Given the description of an element on the screen output the (x, y) to click on. 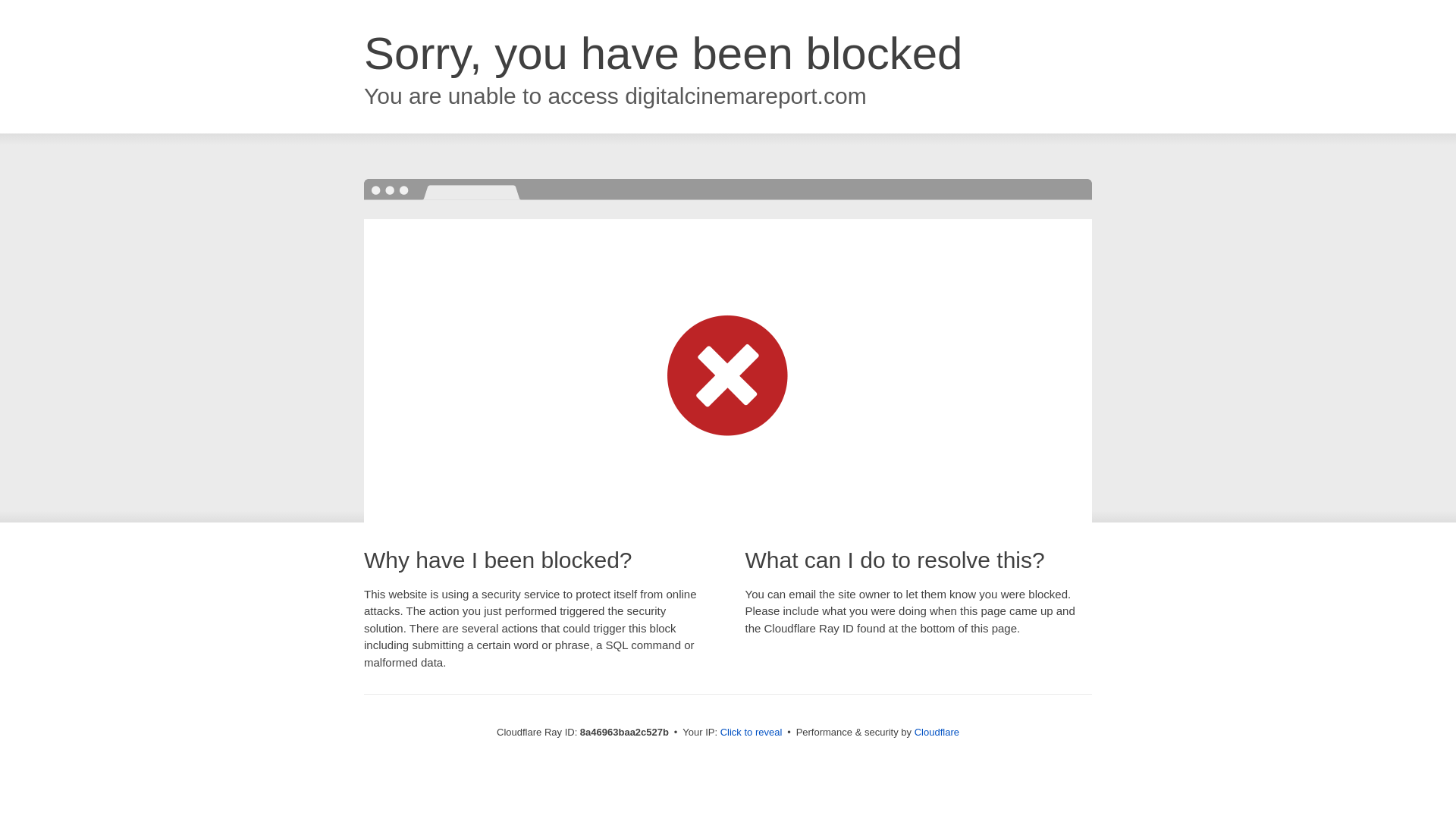
Click to reveal (751, 732)
Cloudflare (936, 731)
